Given the description of an element on the screen output the (x, y) to click on. 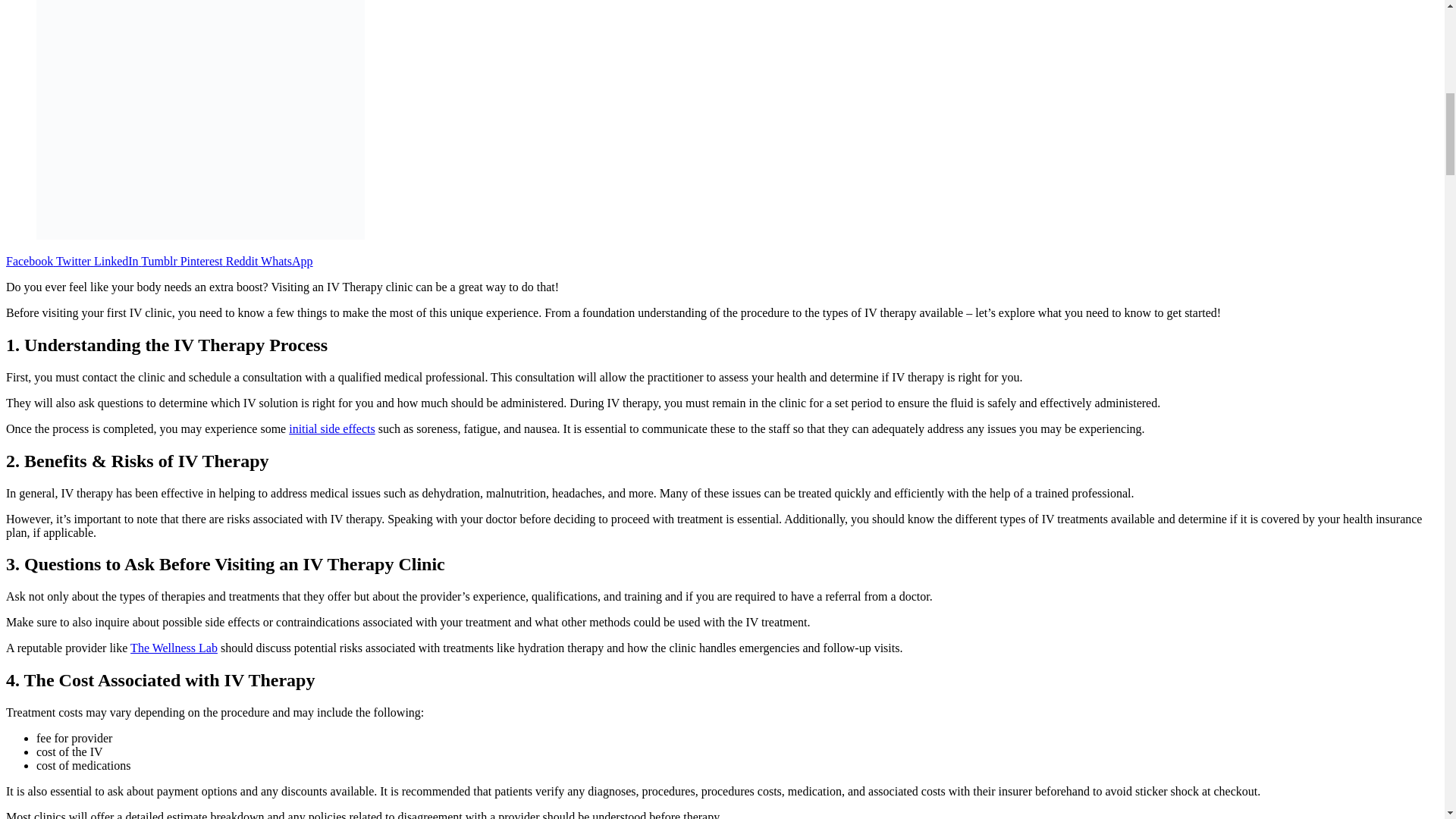
WhatsApp (285, 260)
initial side effects (331, 428)
LinkedIn (114, 260)
Reddit (240, 260)
The Wellness Lab (173, 647)
Twitter (71, 260)
Facebook (28, 260)
Tumblr (157, 260)
Pinterest (199, 260)
